Given the description of an element on the screen output the (x, y) to click on. 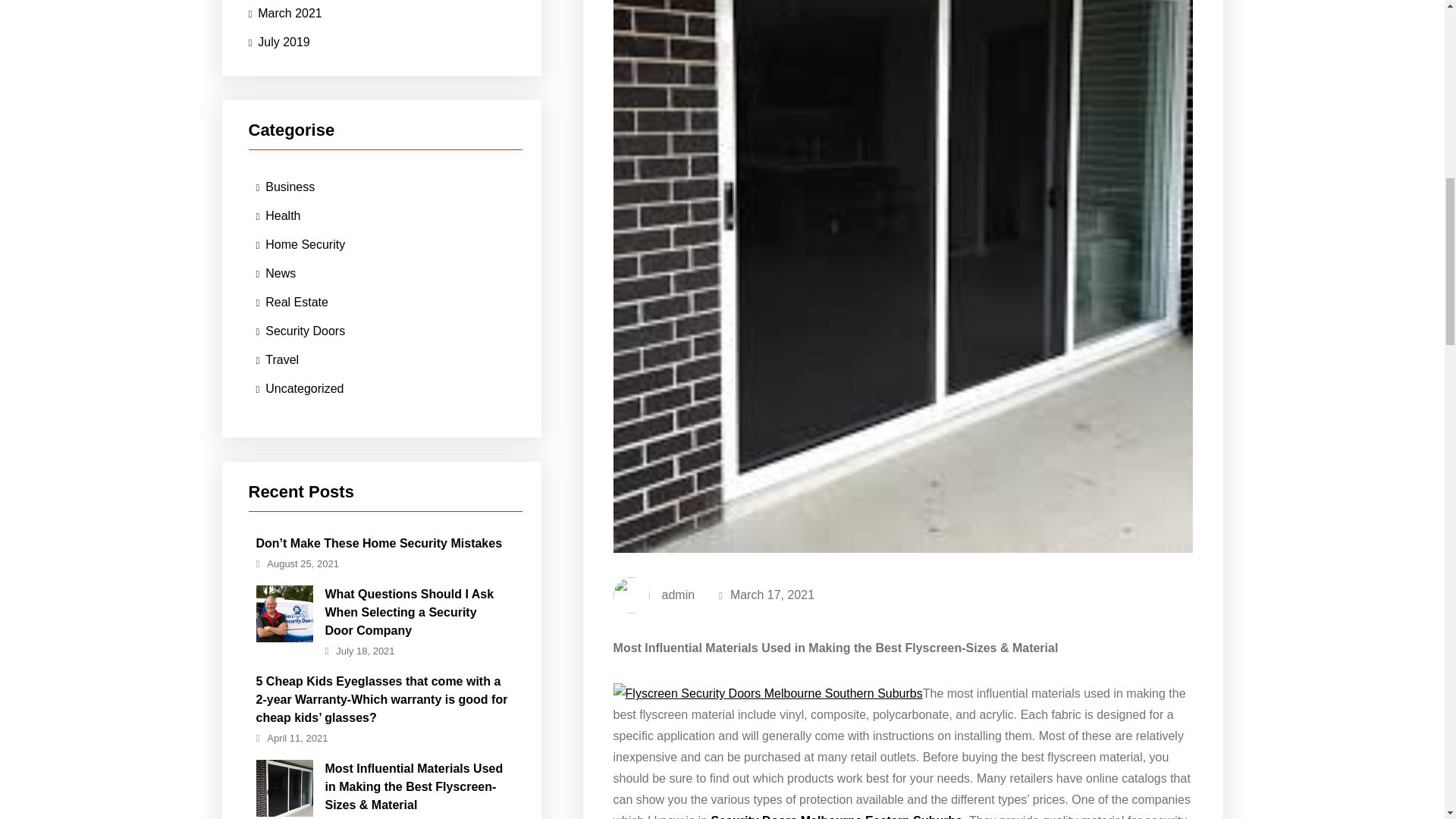
July 2019 (279, 41)
News (276, 273)
Travel (277, 359)
Security Doors (301, 330)
Home Security (301, 244)
Health (278, 215)
Real Estate (292, 302)
March 2021 (284, 13)
Uncategorized (299, 388)
Business (285, 186)
